Given the description of an element on the screen output the (x, y) to click on. 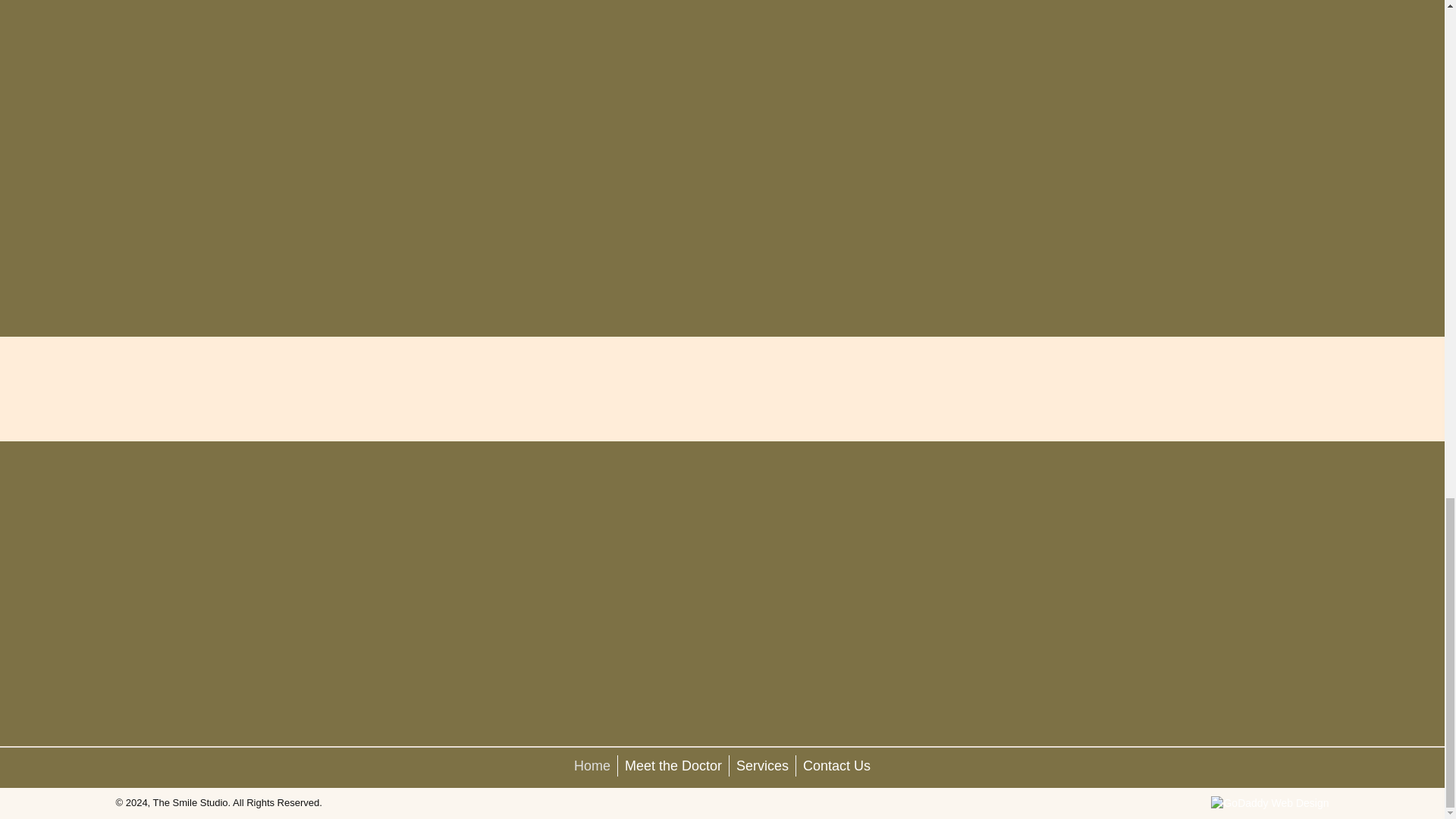
Services (761, 765)
Meet the Doctor (673, 765)
Contact Us (836, 765)
Home (592, 765)
